Given the description of an element on the screen output the (x, y) to click on. 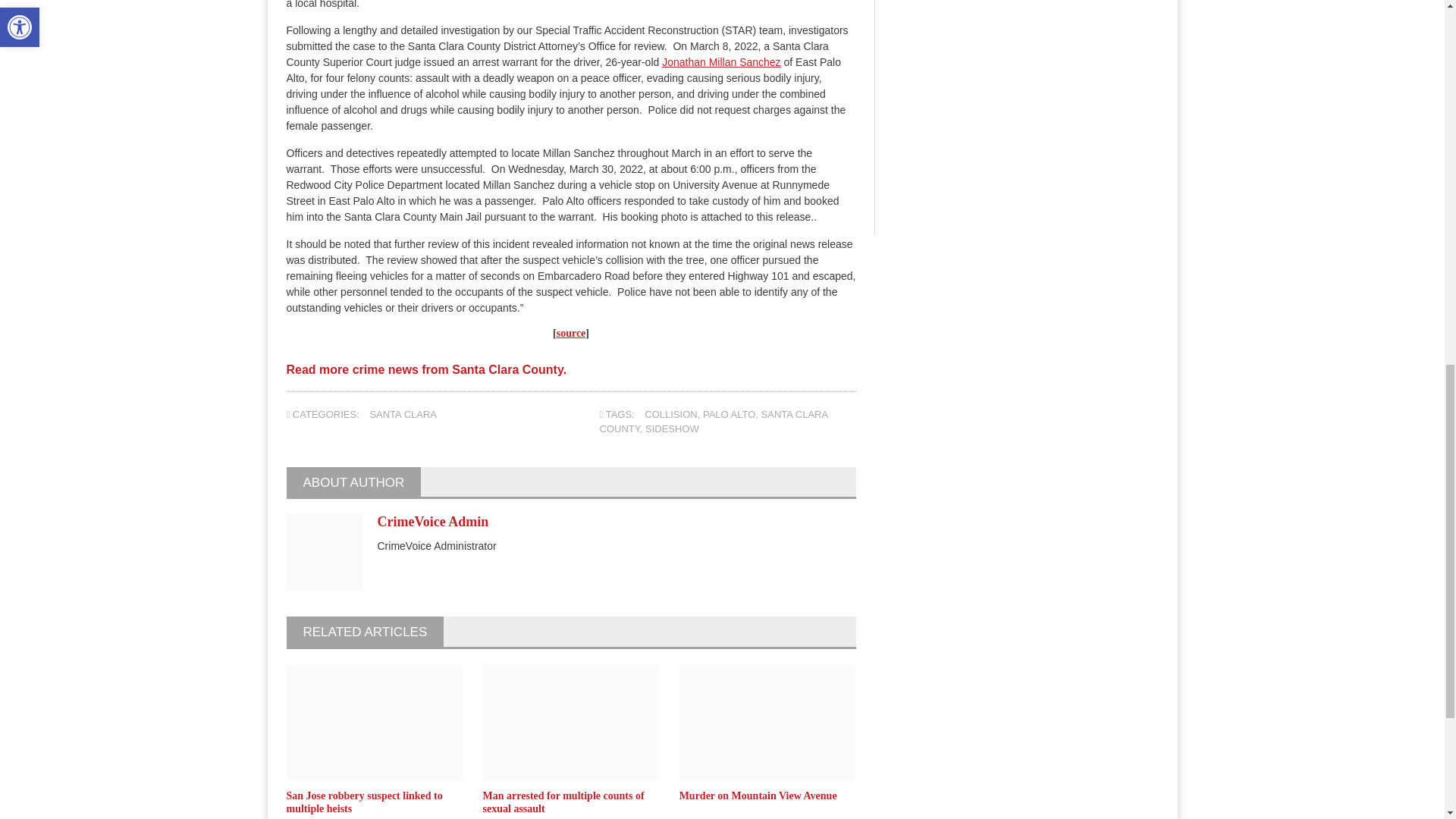
CrimeVoice Admin (433, 521)
Man arrested for multiple counts of sexual assault (564, 802)
Jonathan Millan Sanchez (721, 61)
PALO ALTO (729, 414)
COLLISION (671, 414)
SANTA CLARA (402, 414)
San Jose robbery suspect linked to multiple heists (364, 802)
SIDESHOW (671, 428)
SANTA CLARA COUNTY (713, 421)
source (571, 333)
Murder on Mountain View Avenue (758, 795)
Read more crime news from Santa Clara County. (426, 375)
